Given the description of an element on the screen output the (x, y) to click on. 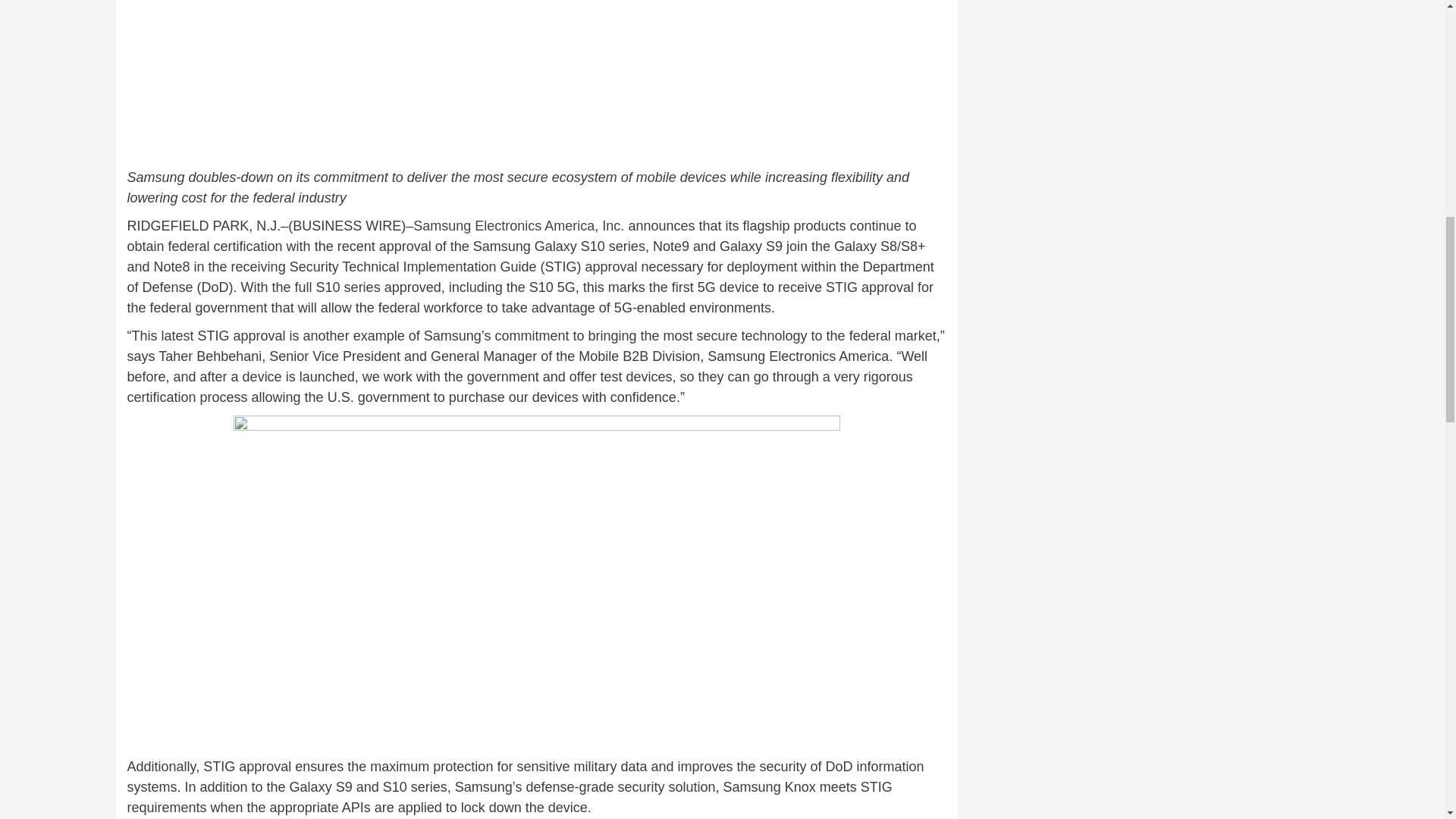
Samsung Electronics America, Inc. (518, 225)
